Given the description of an element on the screen output the (x, y) to click on. 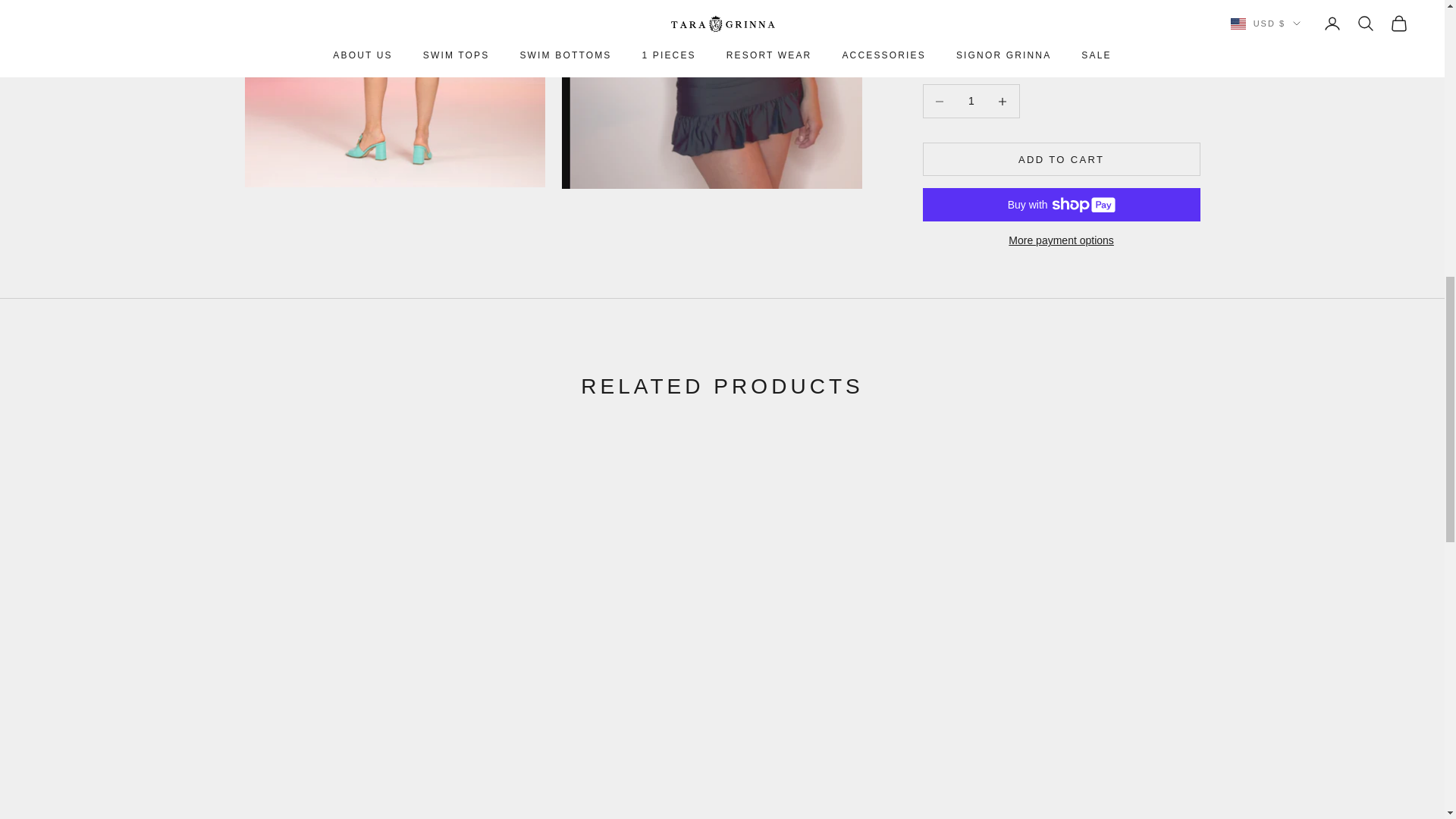
1 (971, 73)
